Given the description of an element on the screen output the (x, y) to click on. 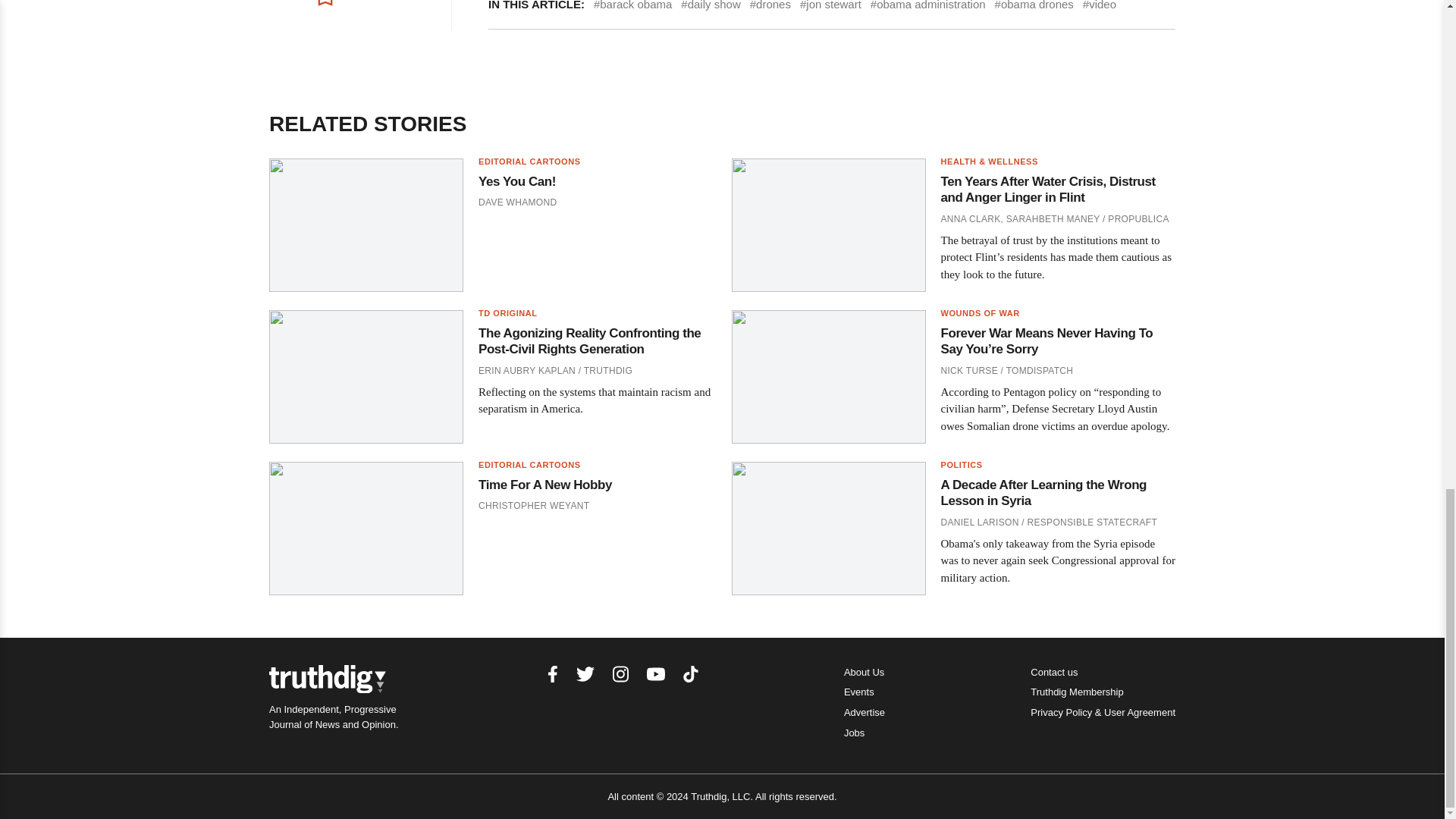
Save to read later (351, 9)
